Given the description of an element on the screen output the (x, y) to click on. 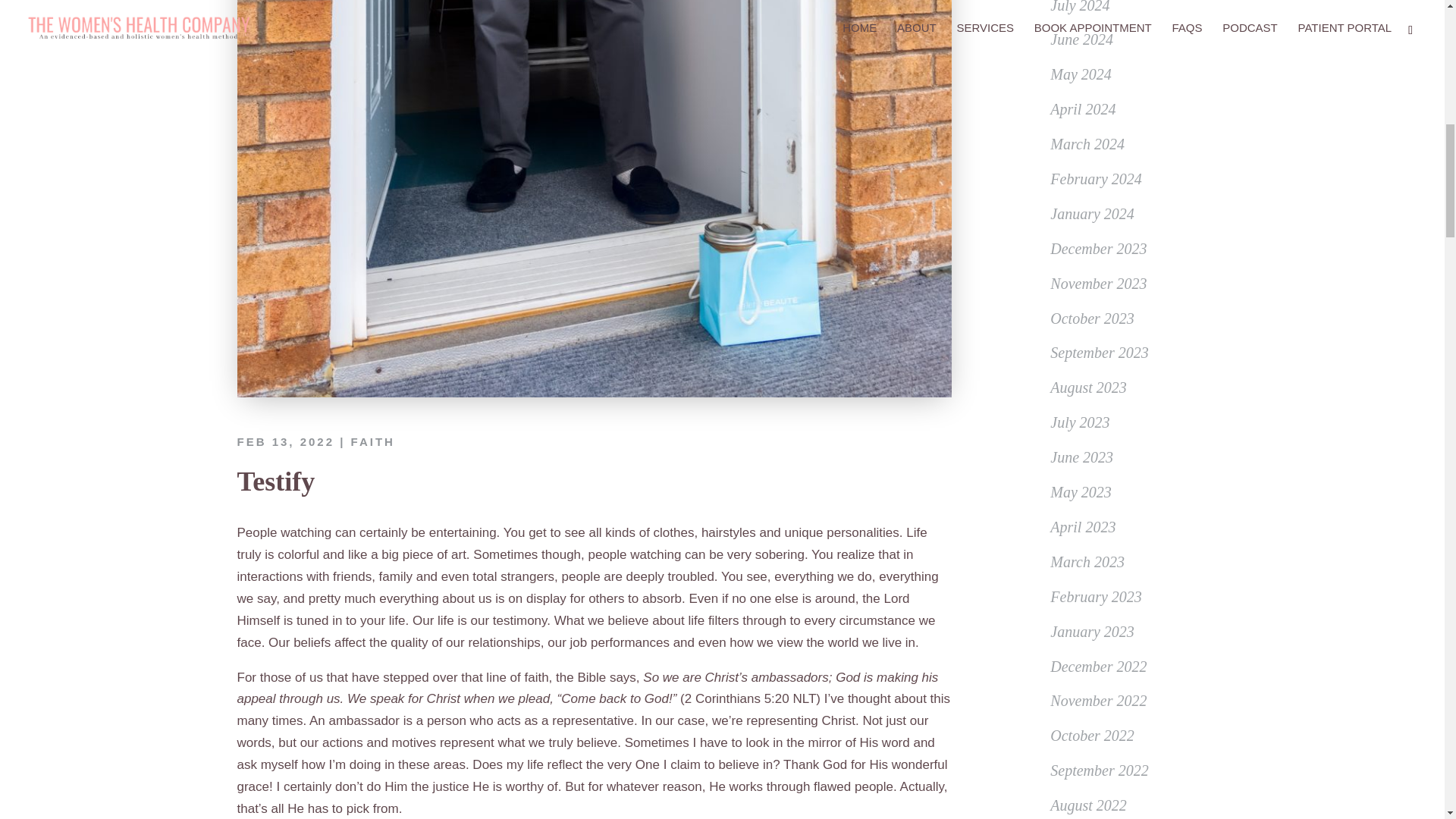
July 2024 (1079, 6)
November 2023 (1098, 283)
March 2024 (1086, 143)
June 2024 (1081, 39)
April 2024 (1082, 108)
March 2023 (1086, 561)
January 2024 (1091, 213)
FAITH (372, 440)
October 2023 (1091, 318)
January 2023 (1091, 631)
July 2023 (1079, 422)
September 2023 (1098, 352)
February 2023 (1095, 596)
February 2024 (1095, 178)
April 2023 (1082, 526)
